Given the description of an element on the screen output the (x, y) to click on. 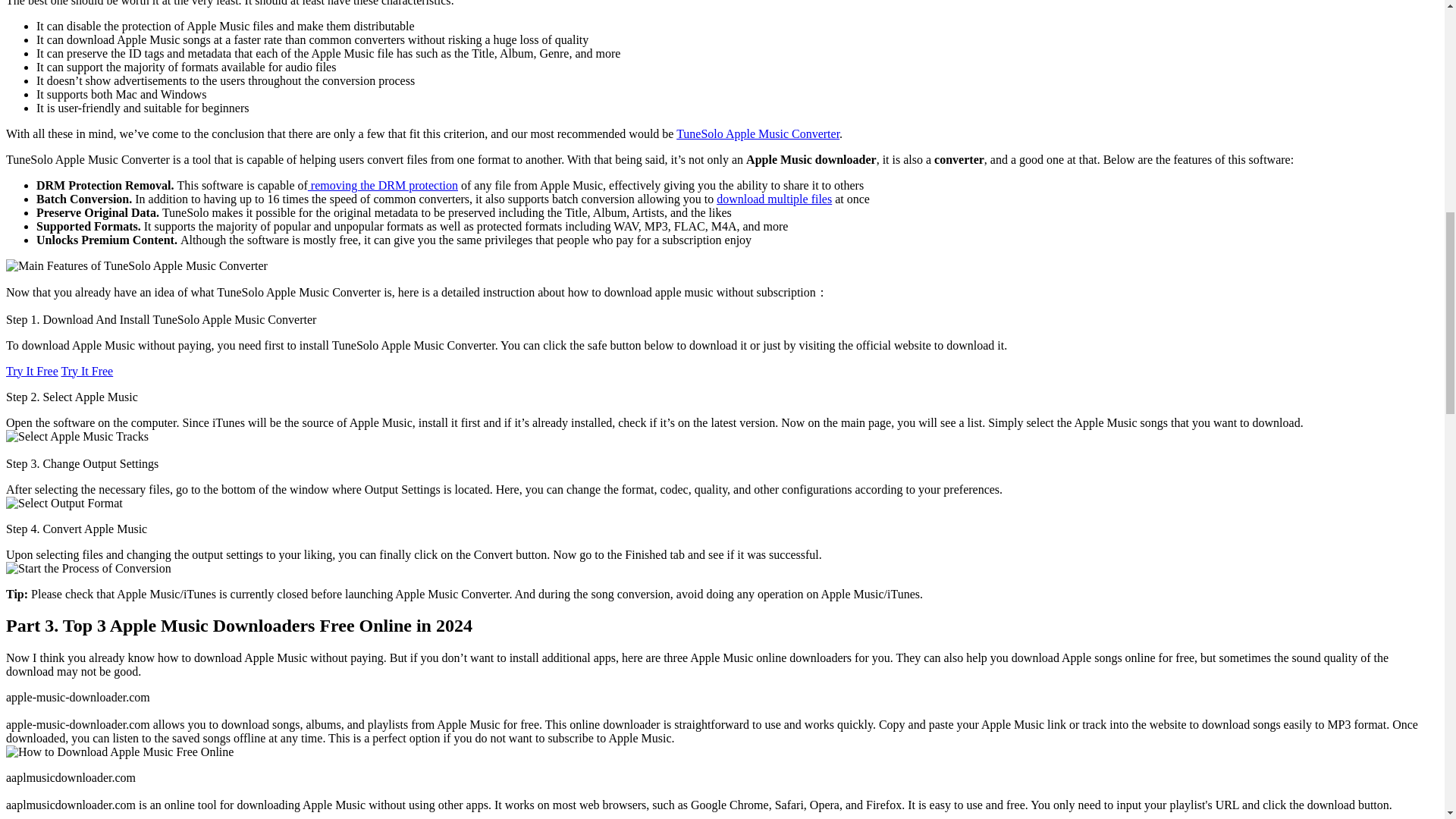
Best iTunes DRM Removal Software in 2023 (382, 185)
removing the DRM protection (382, 185)
TuneSolo Apple Music Converter (758, 133)
Try It Free (87, 369)
Try It Free (31, 369)
TuneSolo Apple Music Converter (758, 133)
download multiple files (773, 198)
How to Convert Apple Music To MP3 in 2023 (773, 198)
